Given the description of an element on the screen output the (x, y) to click on. 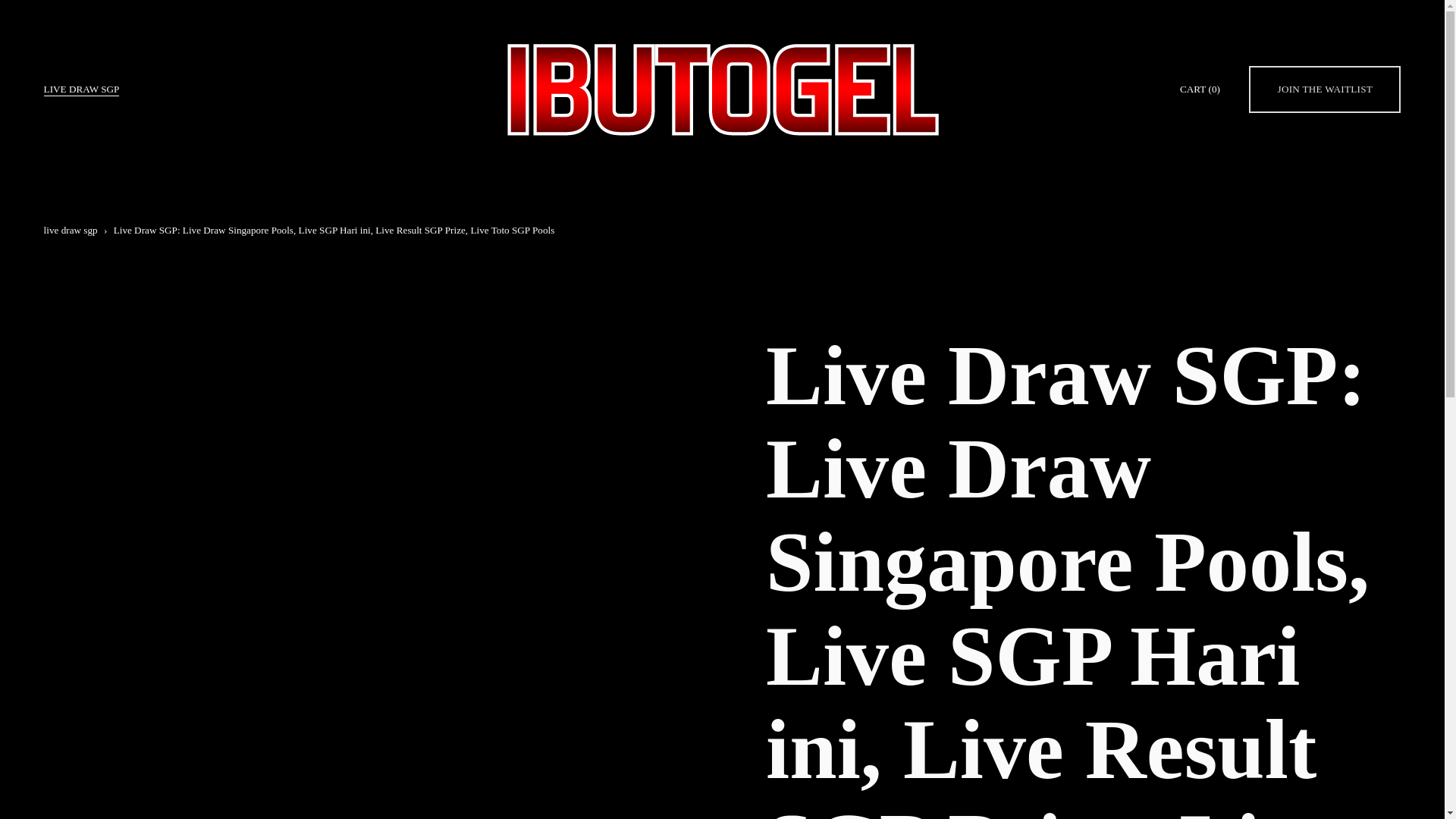
LIVE DRAW SGP (81, 89)
live draw sgp (70, 229)
JOIN THE WAITLIST (1324, 89)
